Given the description of an element on the screen output the (x, y) to click on. 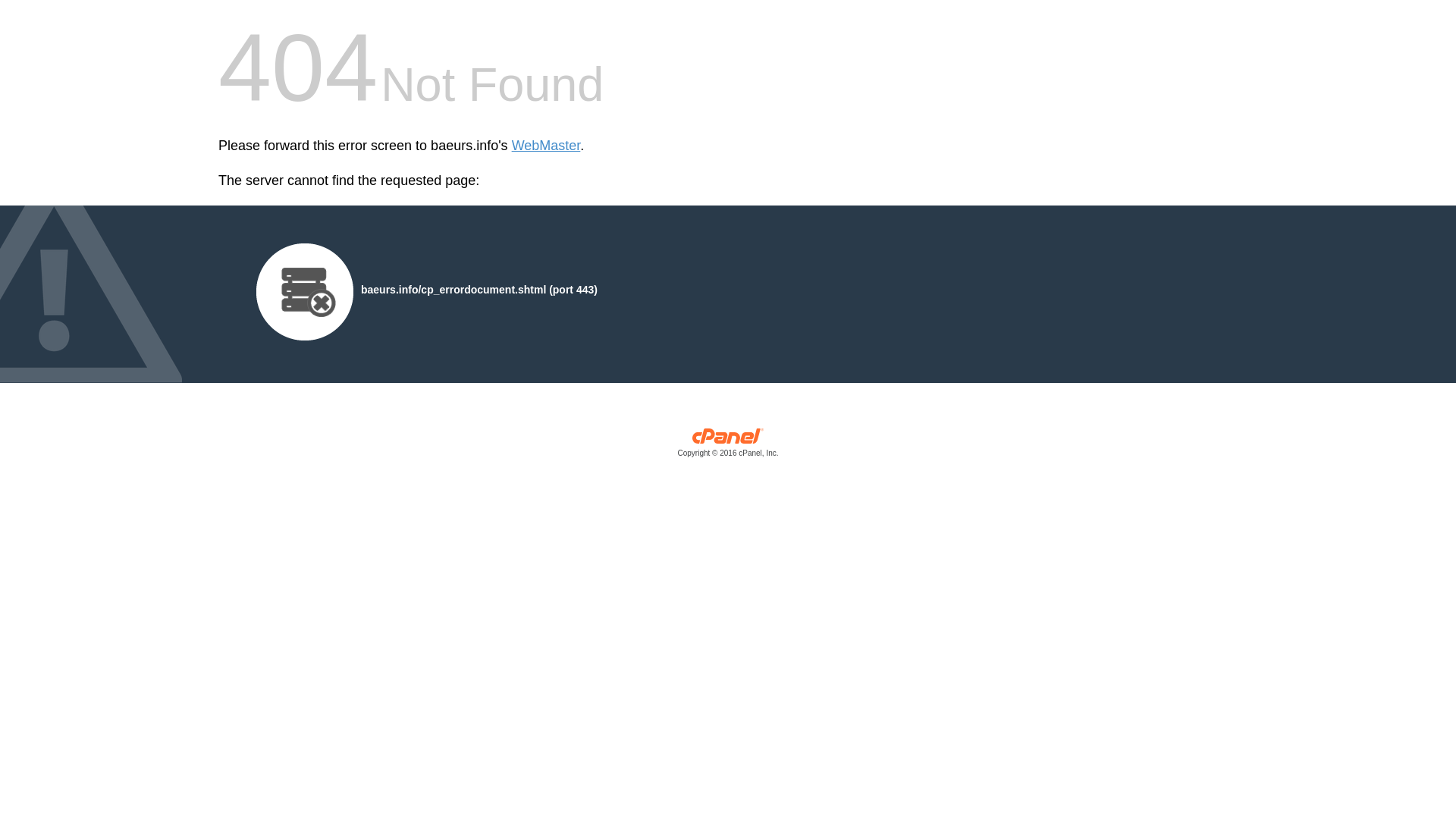
cPanel, Inc. (727, 446)
WebMaster (546, 145)
